Given the description of an element on the screen output the (x, y) to click on. 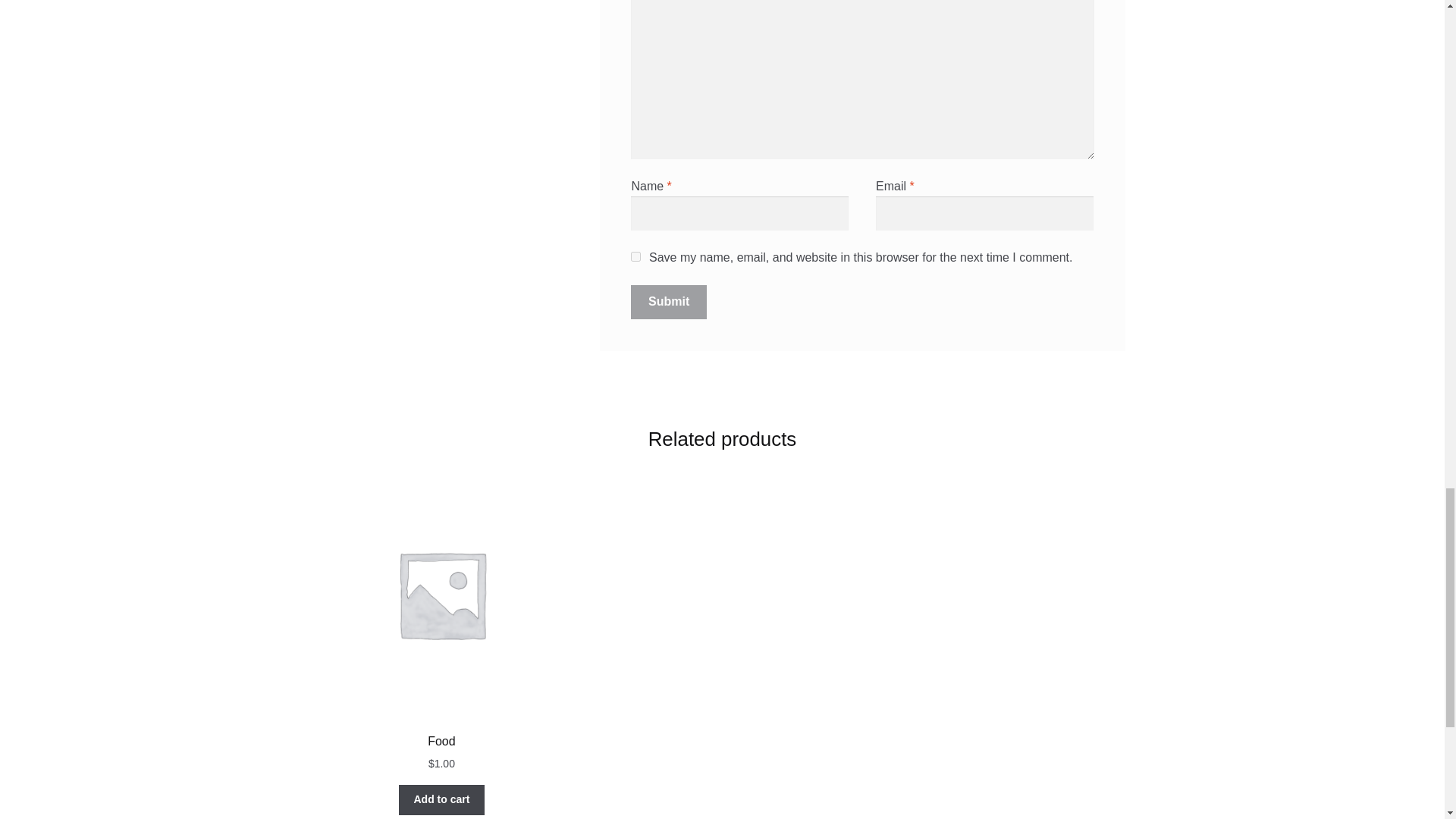
Submit (668, 302)
yes (635, 256)
Add to cart (441, 799)
Submit (668, 302)
